Given the description of an element on the screen output the (x, y) to click on. 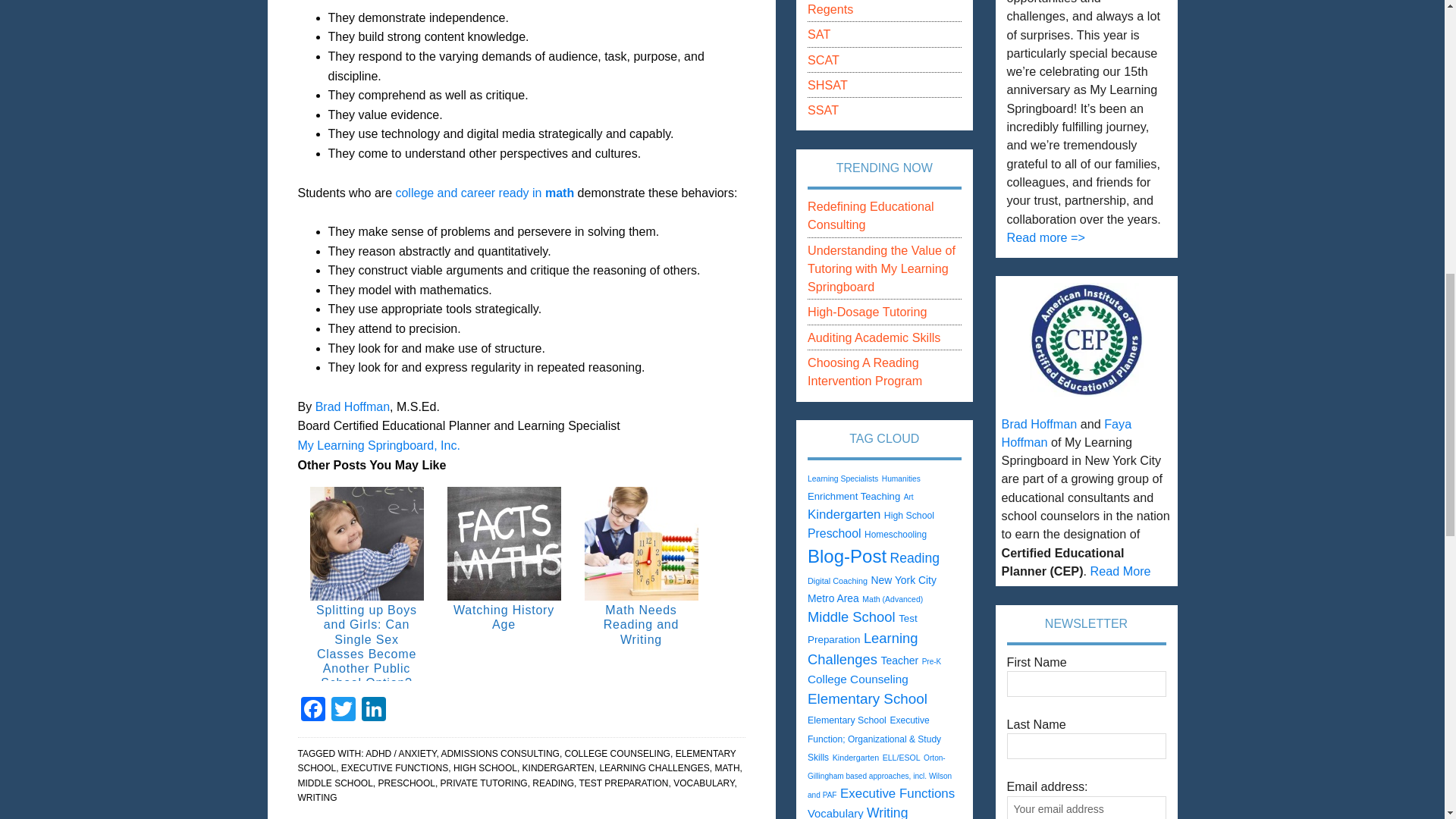
110 topics (853, 496)
My Learning Springboard, Inc. (378, 445)
LinkedIn (373, 710)
KINDERGARTEN (558, 767)
COLLEGE COUNSELING (616, 753)
college and career ready in math (483, 192)
LinkedIn (373, 710)
Twitter (342, 710)
Facebook (312, 710)
Twitter (342, 710)
